Given the description of an element on the screen output the (x, y) to click on. 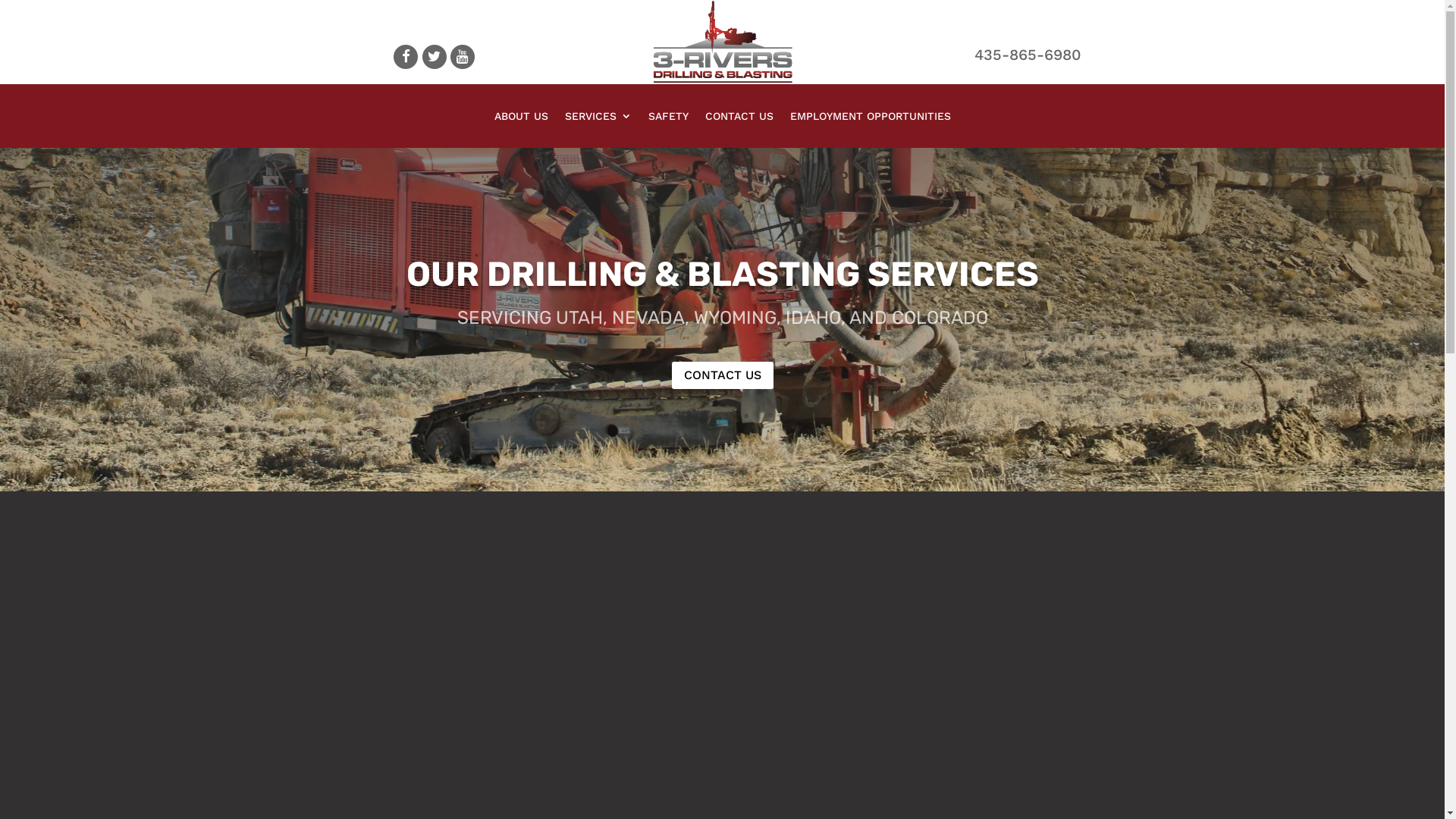
SAFETY Element type: text (667, 118)
EMPLOYMENT OPPORTUNITIES Element type: text (870, 118)
lOGO2 Element type: hover (721, 42)
ABOUT US Element type: text (521, 118)
CONTACT US Element type: text (722, 375)
SERVICES Element type: text (597, 118)
CONTACT US Element type: text (739, 118)
